Given the description of an element on the screen output the (x, y) to click on. 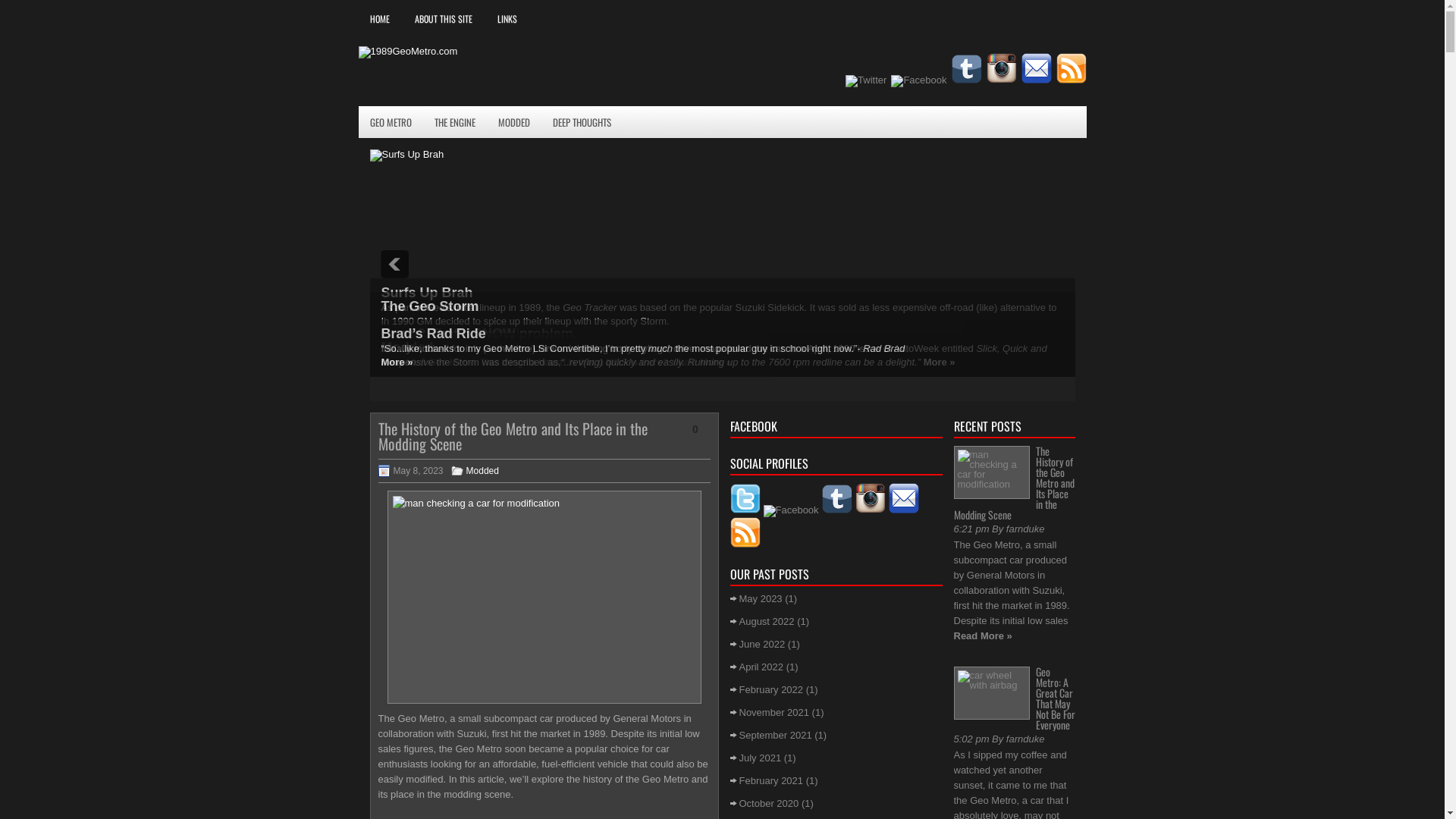
Tumblr Element type: hover (837, 498)
DEEP THOUGHTS Element type: text (581, 122)
August 2022 Element type: text (765, 621)
Modded Element type: text (406, 346)
Facebook Element type: hover (790, 511)
April 2022 Element type: text (760, 666)
November 2021 Element type: text (773, 712)
September 2021 Element type: text (774, 734)
Facebook Element type: hover (918, 81)
Instagram Element type: hover (870, 498)
MODDED Element type: text (513, 122)
February 2022 Element type: text (770, 689)
Instagram Element type: hover (1000, 68)
Surfs Up Brah Element type: hover (407, 154)
October 2020 Element type: text (768, 803)
1989GeoMetro.com Element type: hover (407, 52)
Modded Element type: text (482, 470)
RECENT POSTS Element type: text (1014, 425)
May 2023 Element type: text (759, 598)
The Geo Storm Element type: text (429, 305)
0 Element type: text (695, 429)
Tumblr Element type: hover (965, 68)
Twitter Element type: hover (865, 81)
July 2021 Element type: text (759, 757)
Geo Metro: A Great Car That May Not Be For Everyone Element type: text (1055, 697)
ABOUT THIS SITE Element type: text (443, 18)
Geo Metro Convertibles Element type: hover (428, 381)
February 2021 Element type: text (770, 780)
Surfs Up Brah Element type: text (426, 292)
Our Feed Element type: hover (744, 532)
June 2022 Element type: text (761, 643)
Email Element type: hover (903, 498)
Email Element type: hover (1035, 68)
HOME Element type: text (378, 18)
GEO METRO Element type: text (389, 122)
Twitter Element type: hover (744, 498)
Geo Metro Convertibles Element type: text (457, 333)
THE ENGINE Element type: text (454, 122)
Our Feed Element type: hover (1070, 68)
LINKS Element type: text (506, 18)
